Given the description of an element on the screen output the (x, y) to click on. 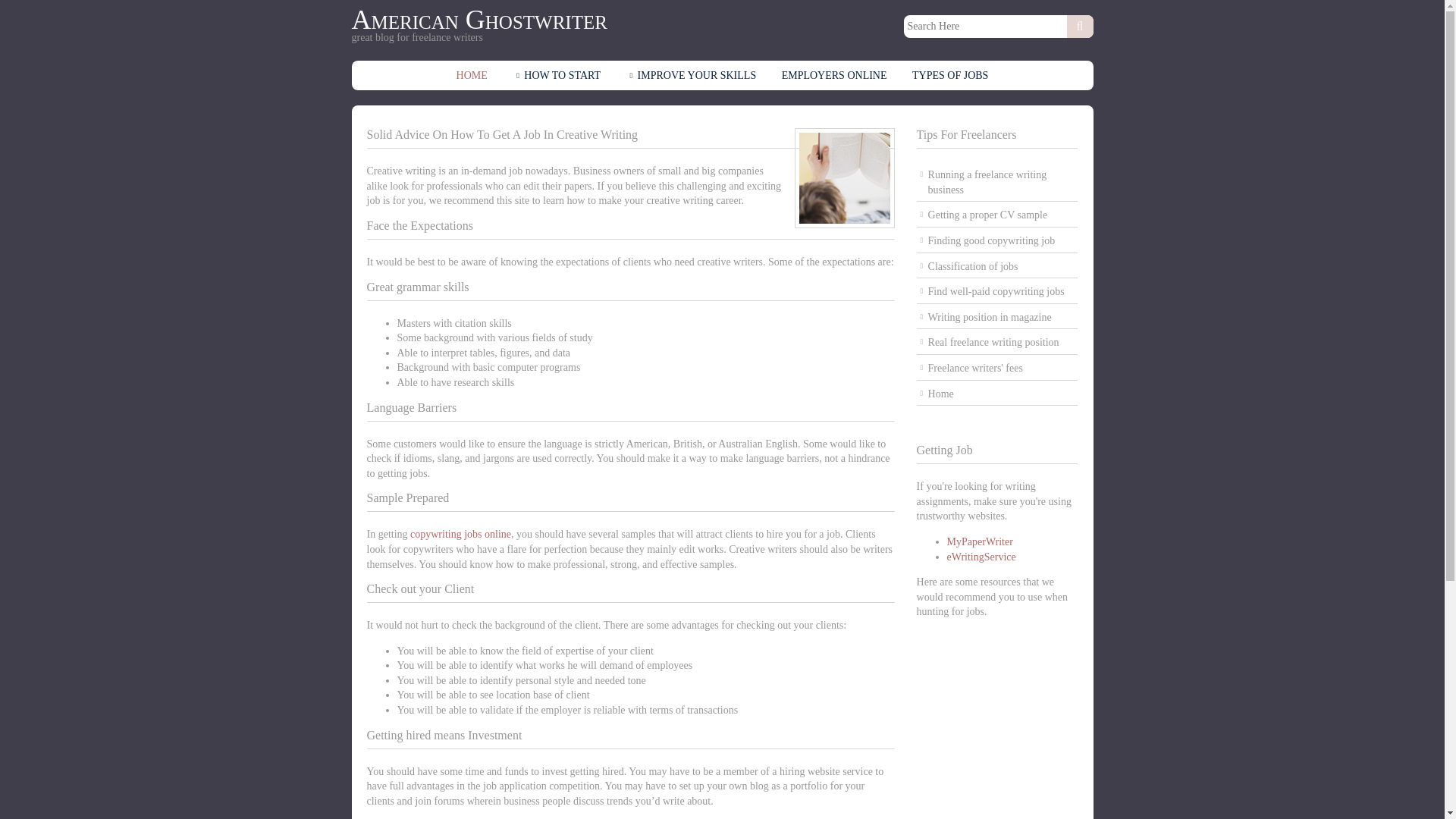
American Ghostwriter (479, 19)
A Free Online Resource For Freelance Writers (997, 394)
HOW TO START (555, 75)
Search (1079, 26)
Directions On Getting The Position Of Freelance Copywriter (997, 241)
IMPROVE YOUR SKILLS (691, 75)
Freelance Writers' Salaries: What Is Important To Know (997, 368)
HOME (472, 75)
In Search Of A Real Freelance Writing Jobs On The Web (997, 342)
How To Start A Freelance Writing Business: A Full Guide (997, 182)
How To Become A Highly Paid Copywriter Online? (997, 291)
In Search Of Freelance Writing Positions In Magazines (997, 318)
